Given the description of an element on the screen output the (x, y) to click on. 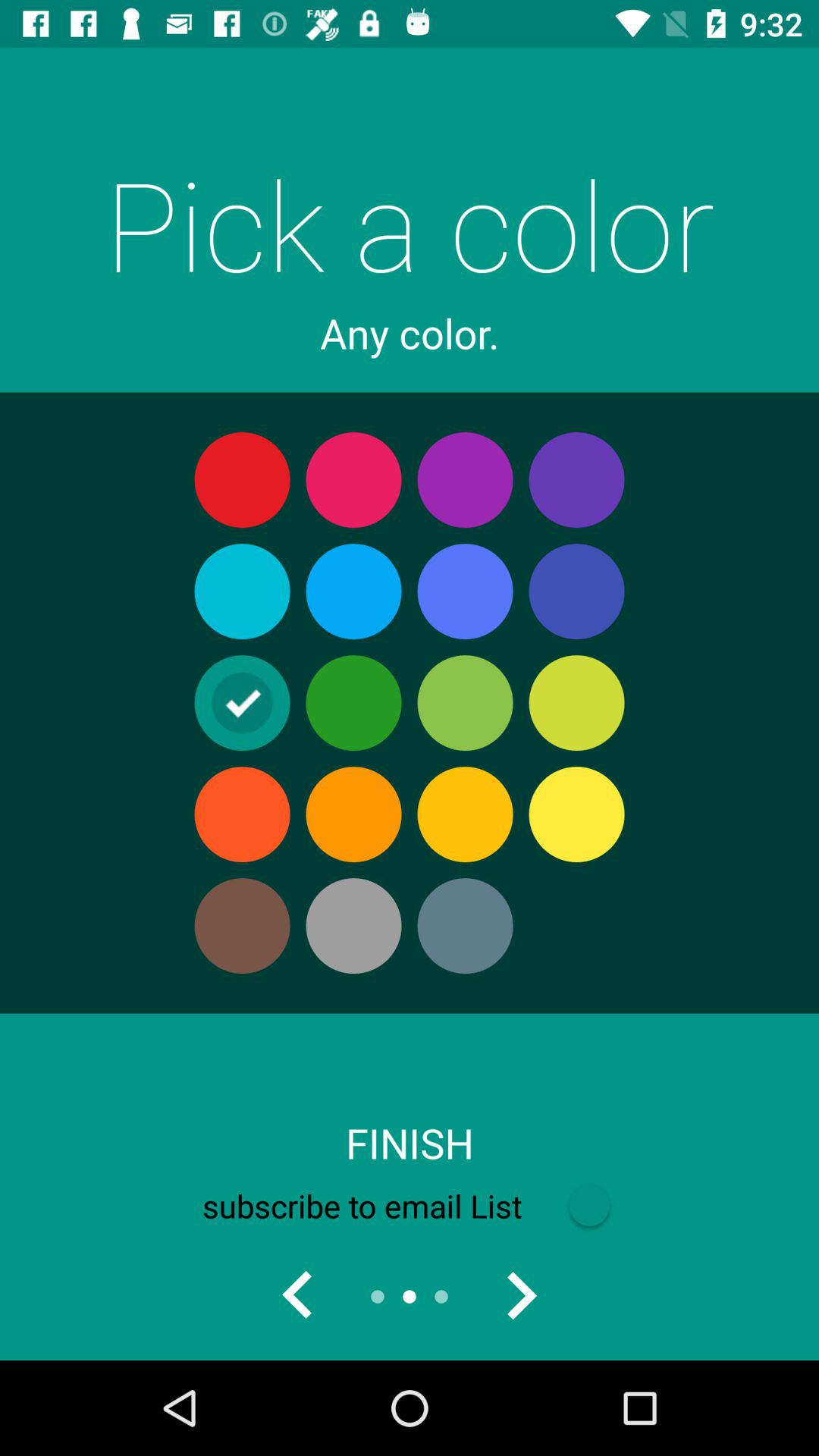
color selection display (520, 1296)
